Given the description of an element on the screen output the (x, y) to click on. 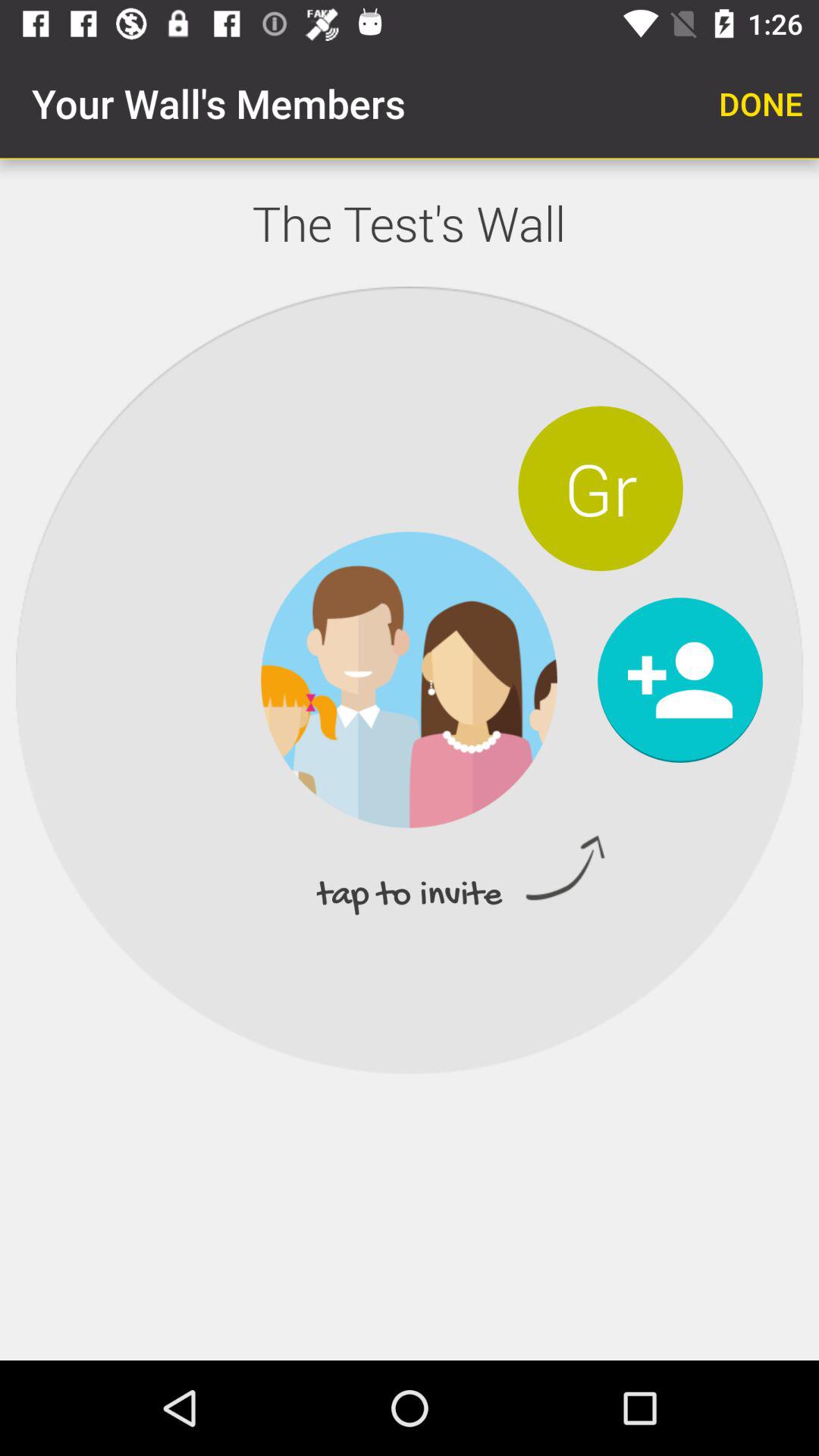
press the item at the top right corner (760, 103)
